Given the description of an element on the screen output the (x, y) to click on. 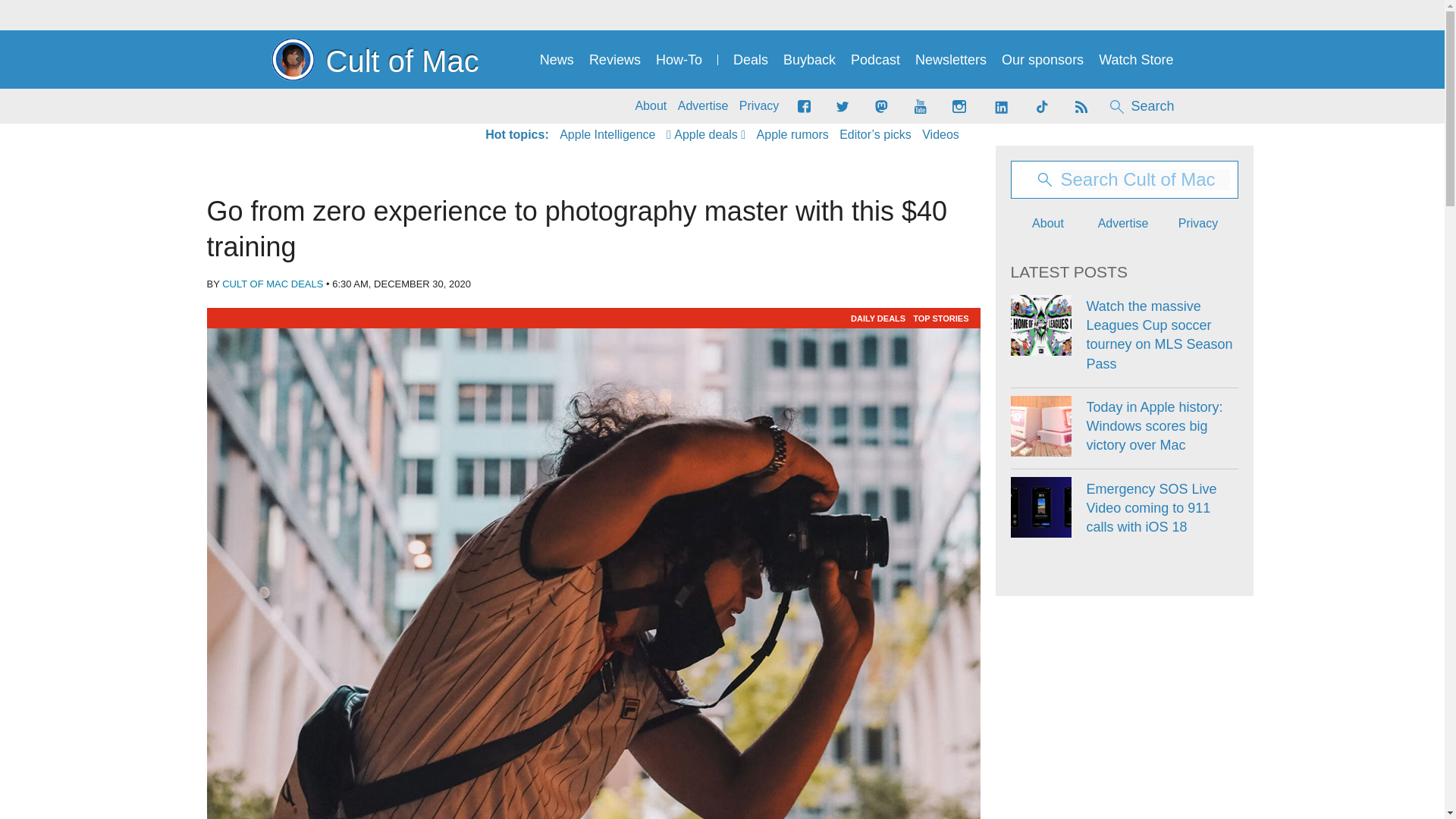
Apple Intelligence (607, 134)
Posts by Cult of Mac Deals (272, 283)
About (650, 105)
Our sponsors (1042, 59)
Videos (940, 134)
Podcast (875, 59)
Advertise (703, 105)
Apple rumors (792, 134)
Videos (940, 134)
News (556, 59)
Apple Intelligence (607, 134)
How-To (678, 59)
Reviews (613, 59)
Newsletters (950, 59)
Deals (750, 59)
